Given the description of an element on the screen output the (x, y) to click on. 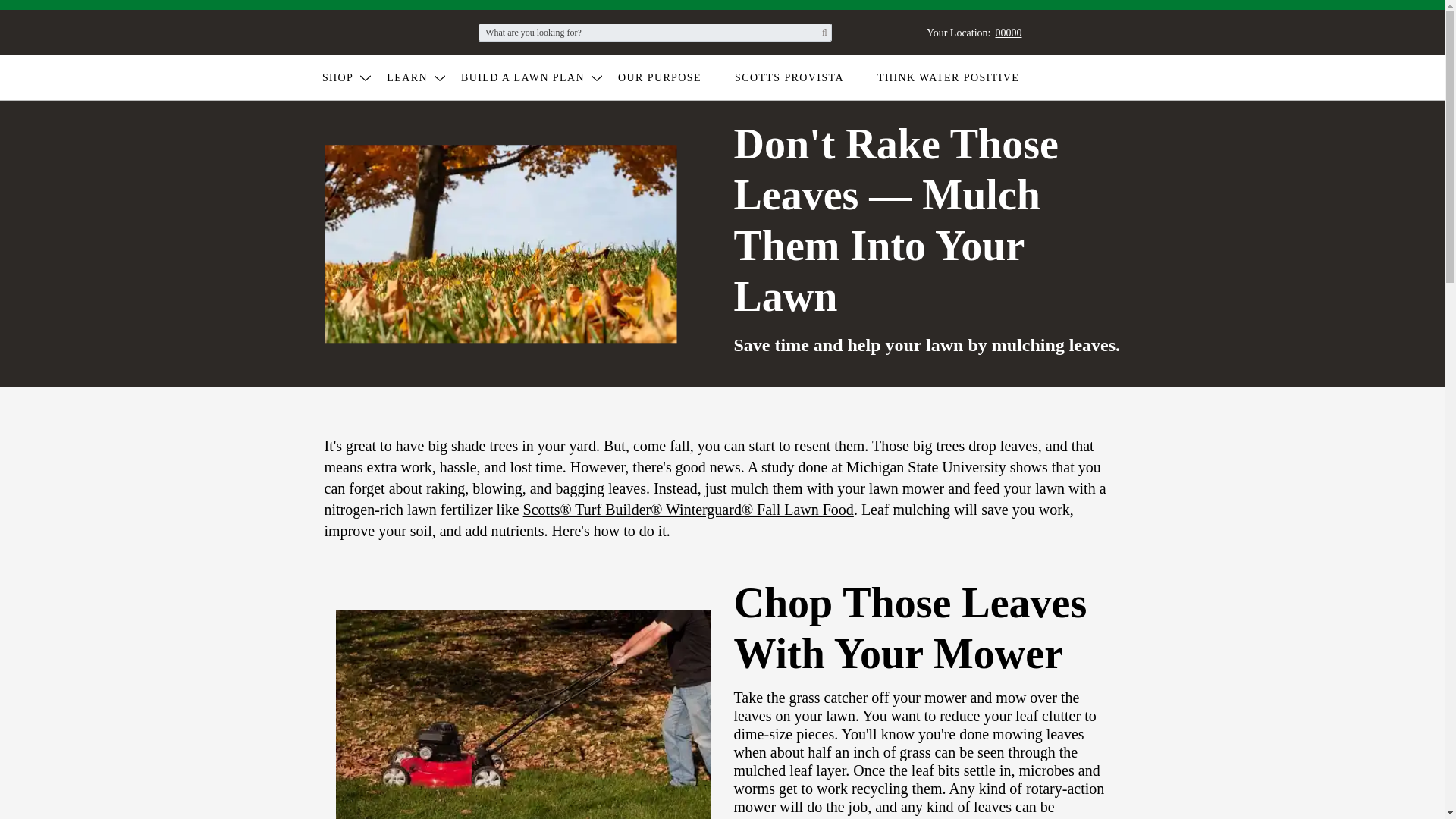
SHOP (347, 77)
LEARN (417, 77)
Commerce Cloud Storefront Reference Architecture (364, 31)
BUILD A LAWN PLAN (533, 77)
THINK WATER POSITIVE (958, 77)
Cart 0 Items (1113, 31)
SCOTTS PROVISTA (964, 32)
OUR PURPOSE (799, 77)
